Given the description of an element on the screen output the (x, y) to click on. 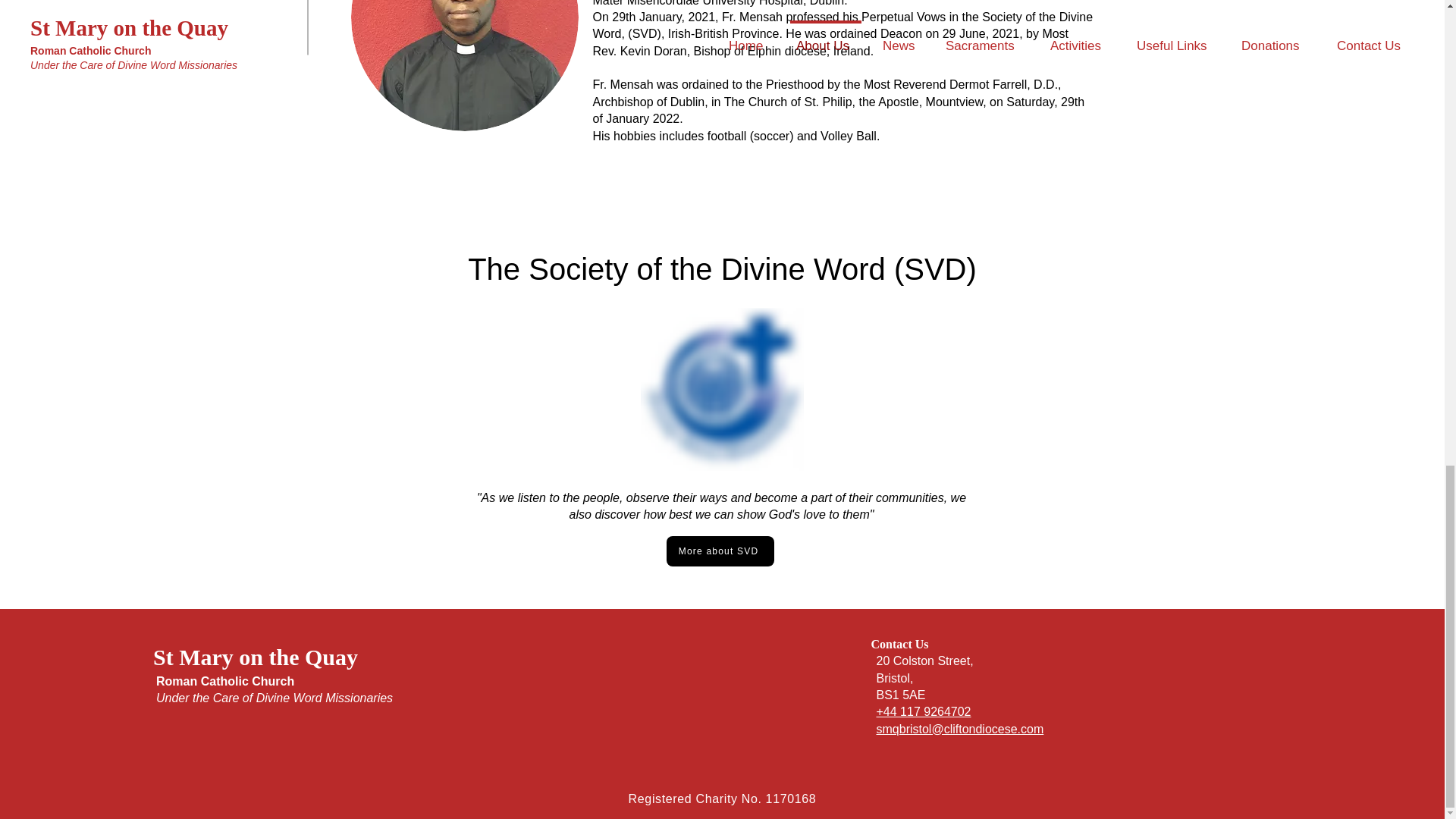
Priest Celebrating Mass (464, 65)
More about SVD (719, 551)
Bristol, (895, 677)
BS1 5AE (901, 694)
St Mary on the Quay (255, 656)
Contact Us (899, 644)
20 Colston Street, (925, 660)
